Given the description of an element on the screen output the (x, y) to click on. 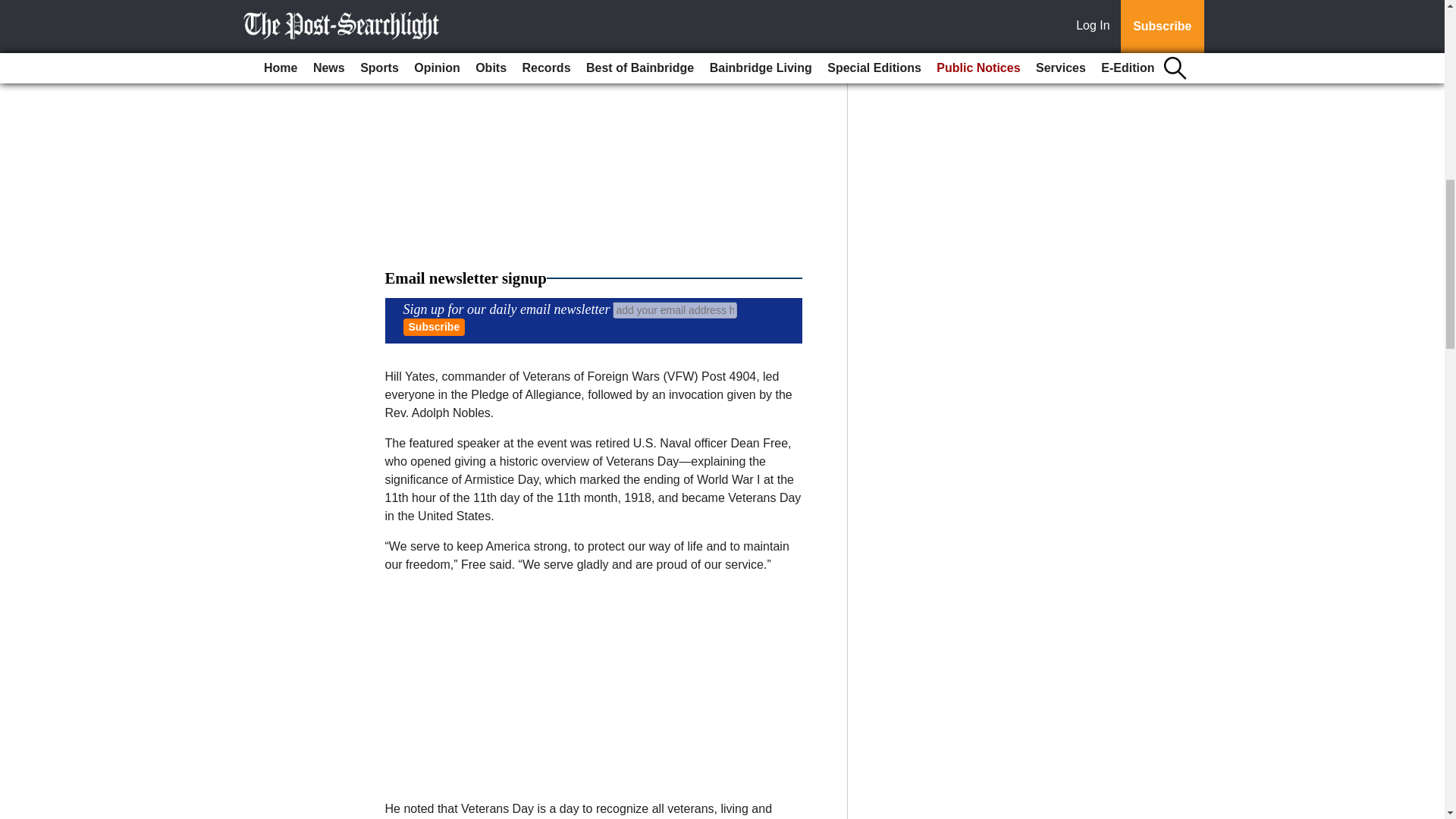
Subscribe (434, 326)
Subscribe (434, 326)
